Given the description of an element on the screen output the (x, y) to click on. 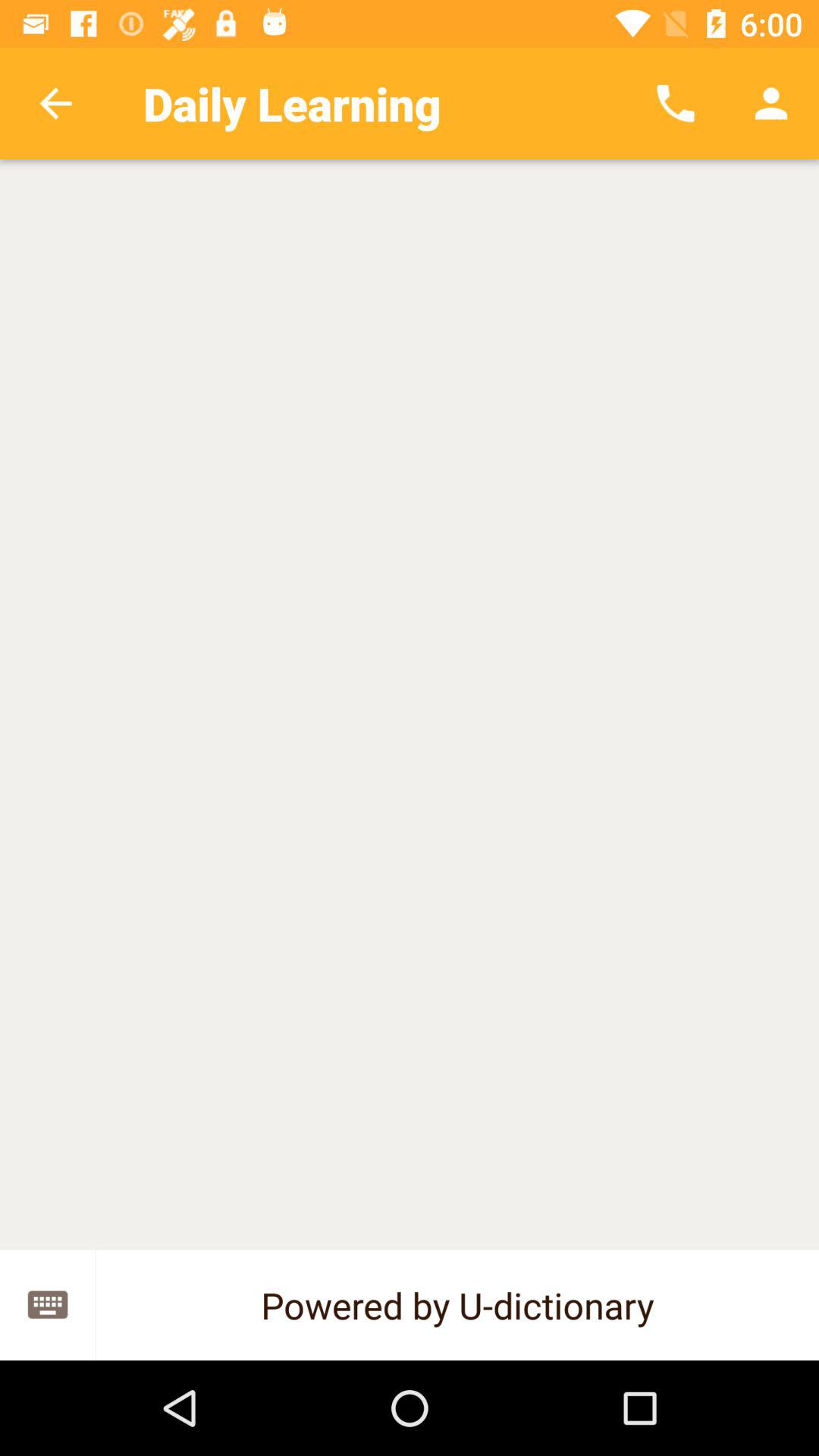
select icon at the top left corner (55, 103)
